Given the description of an element on the screen output the (x, y) to click on. 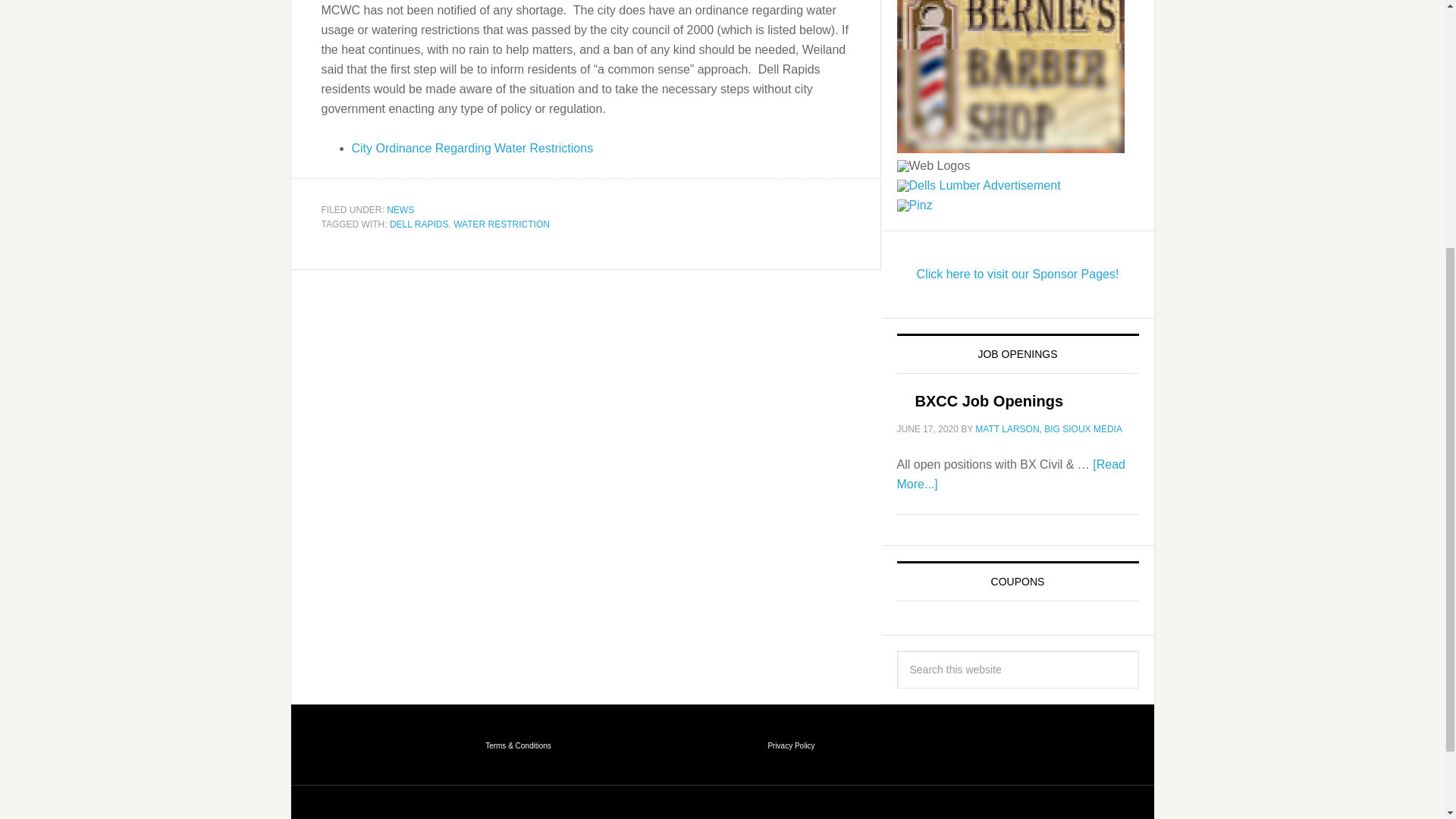
MATT LARSON, BIG SIOUX MEDIA (1048, 429)
DELL RAPIDS (419, 224)
BXCC Job Openings (988, 401)
Dell Rapids City Ordinance Water Restriction (473, 146)
NEWS (400, 209)
WATER RESTRICTION (501, 224)
Privacy Policy (790, 744)
Click here to visit our Sponsor Pages! (1018, 273)
